Given the description of an element on the screen output the (x, y) to click on. 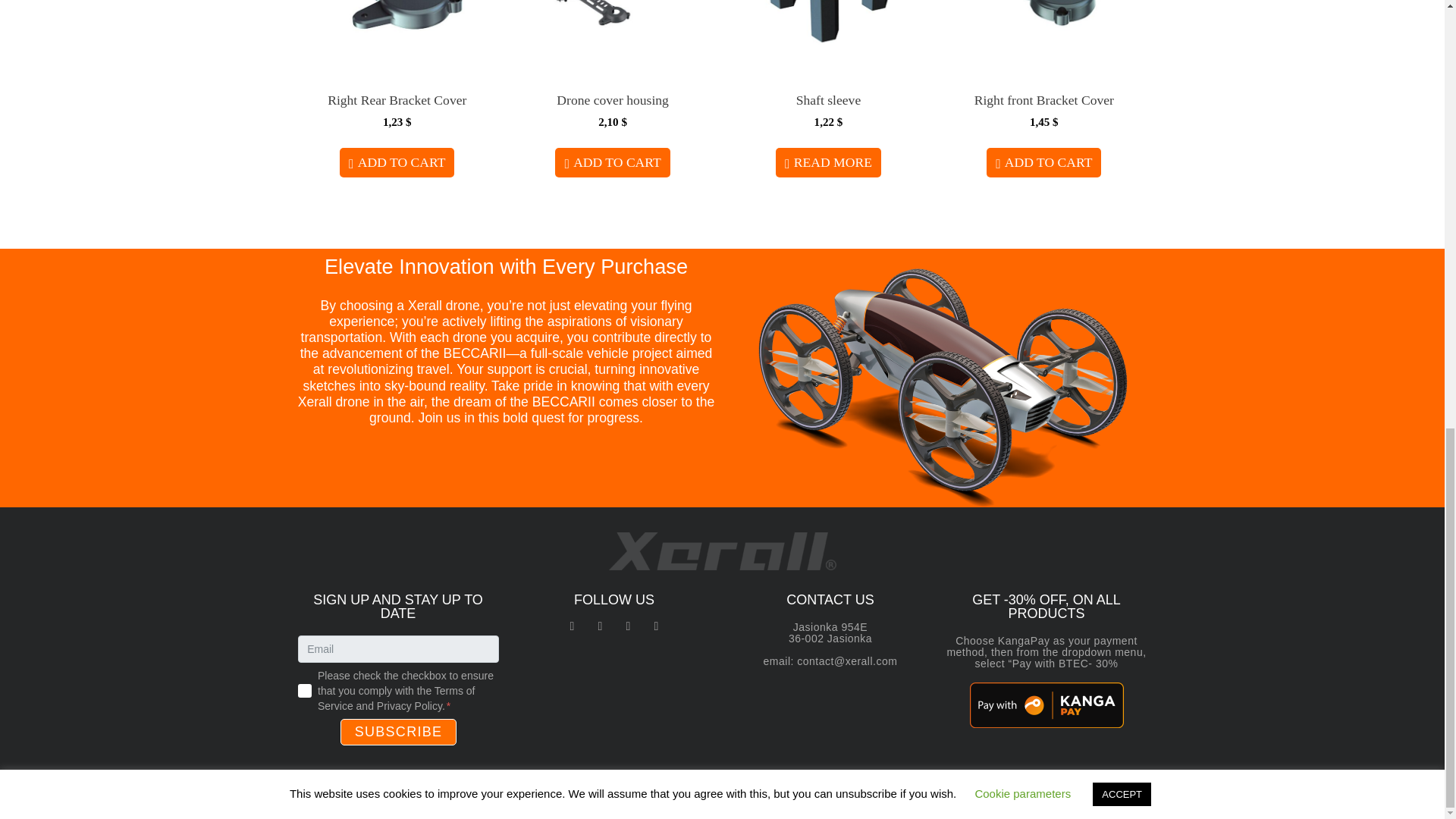
ADD TO CART (396, 162)
kanga pay (1045, 705)
